Given the description of an element on the screen output the (x, y) to click on. 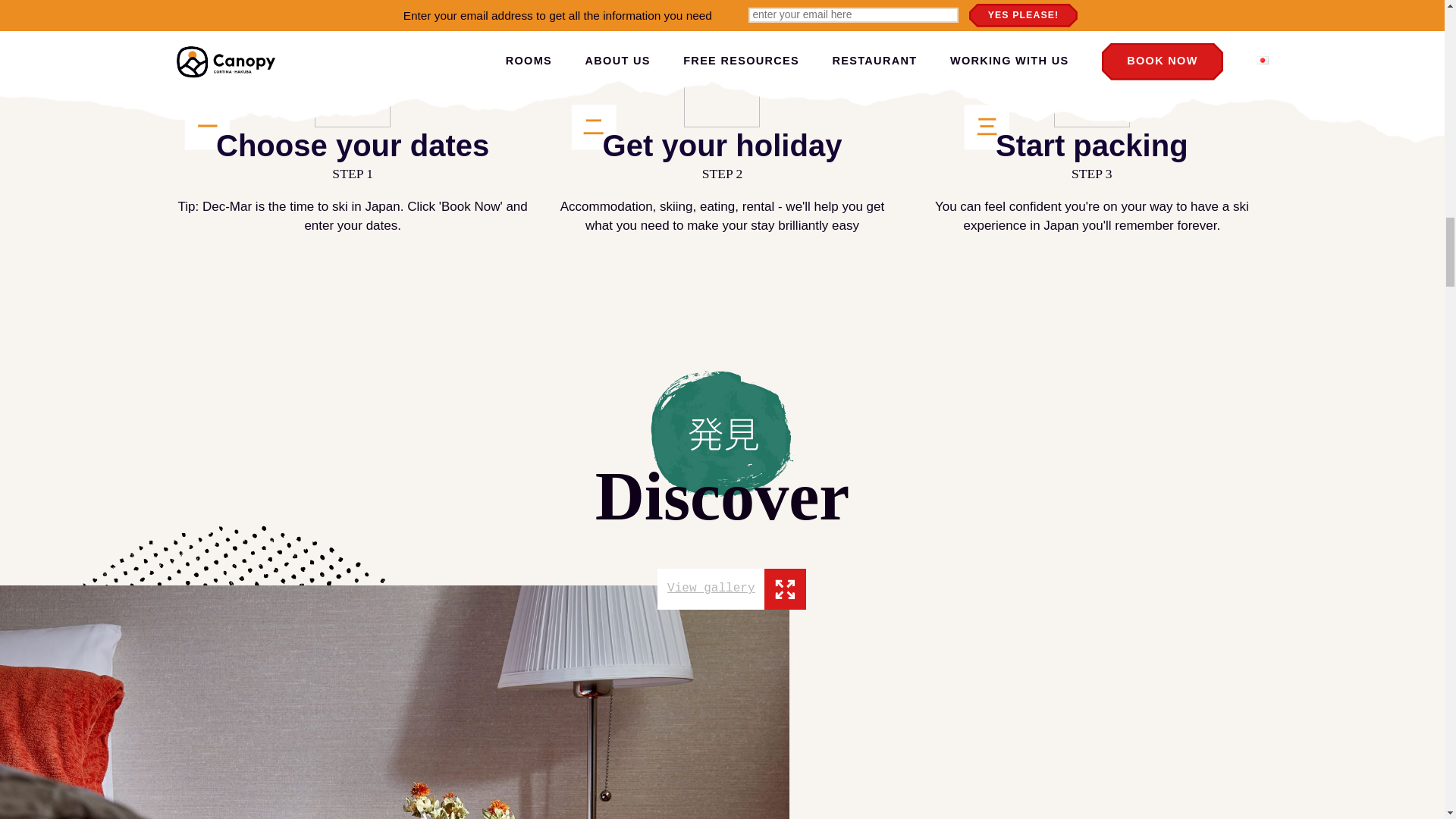
View gallery (732, 589)
